Given the description of an element on the screen output the (x, y) to click on. 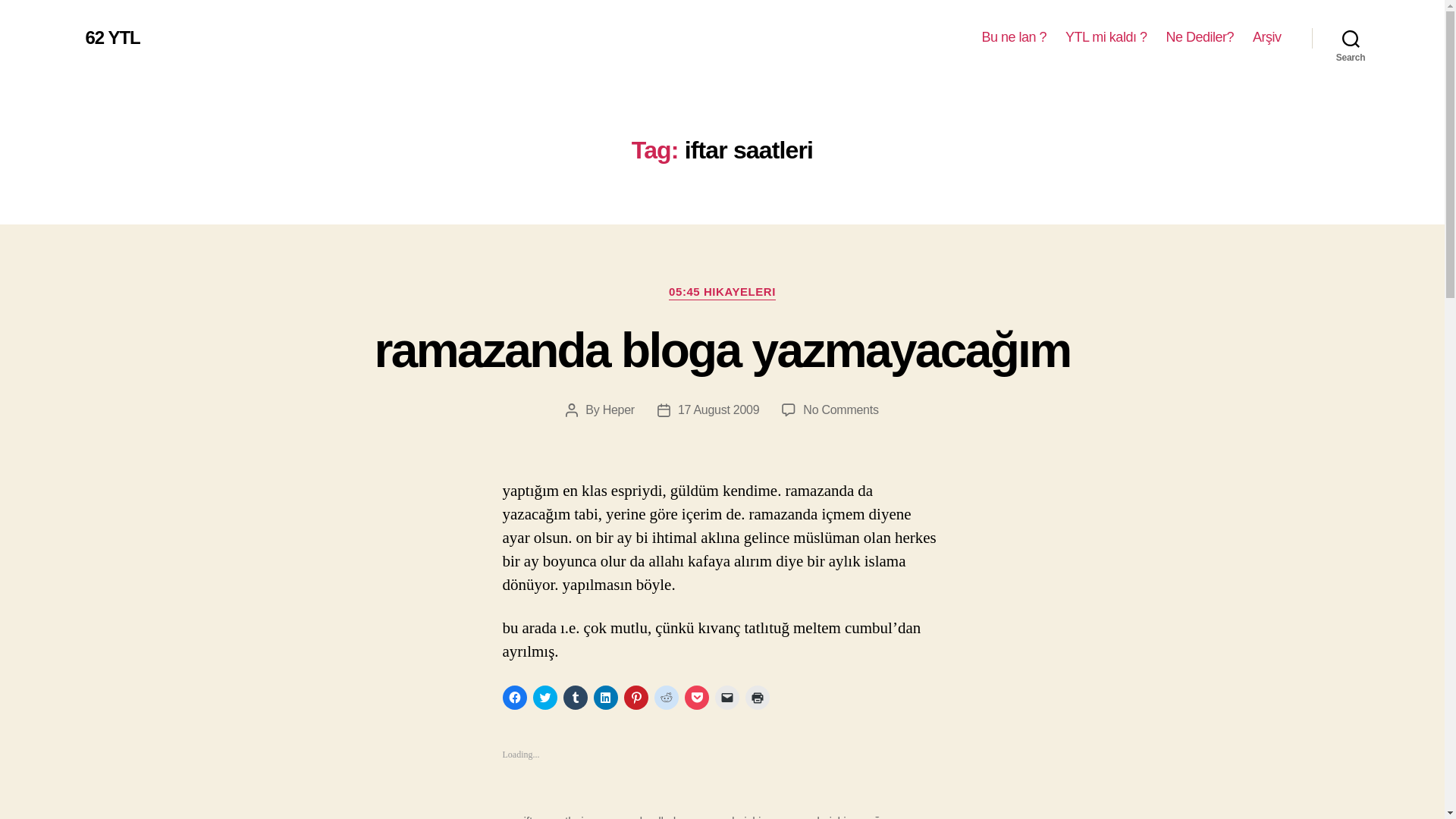
Click to share on Twitter (544, 697)
Click to share on Pinterest (635, 697)
Click to email a link to a friend (726, 697)
Click to share on Pocket (695, 697)
Heper (618, 409)
Ne Dediler? (1199, 37)
Click to share on Tumblr (574, 697)
Click to share on Reddit (665, 697)
17 August 2009 (718, 409)
62 YTL (111, 37)
05:45 HIKAYELERI (722, 292)
iftar saatleri (552, 816)
Search (1350, 37)
Click to share on Facebook (513, 697)
Click to print (756, 697)
